Given the description of an element on the screen output the (x, y) to click on. 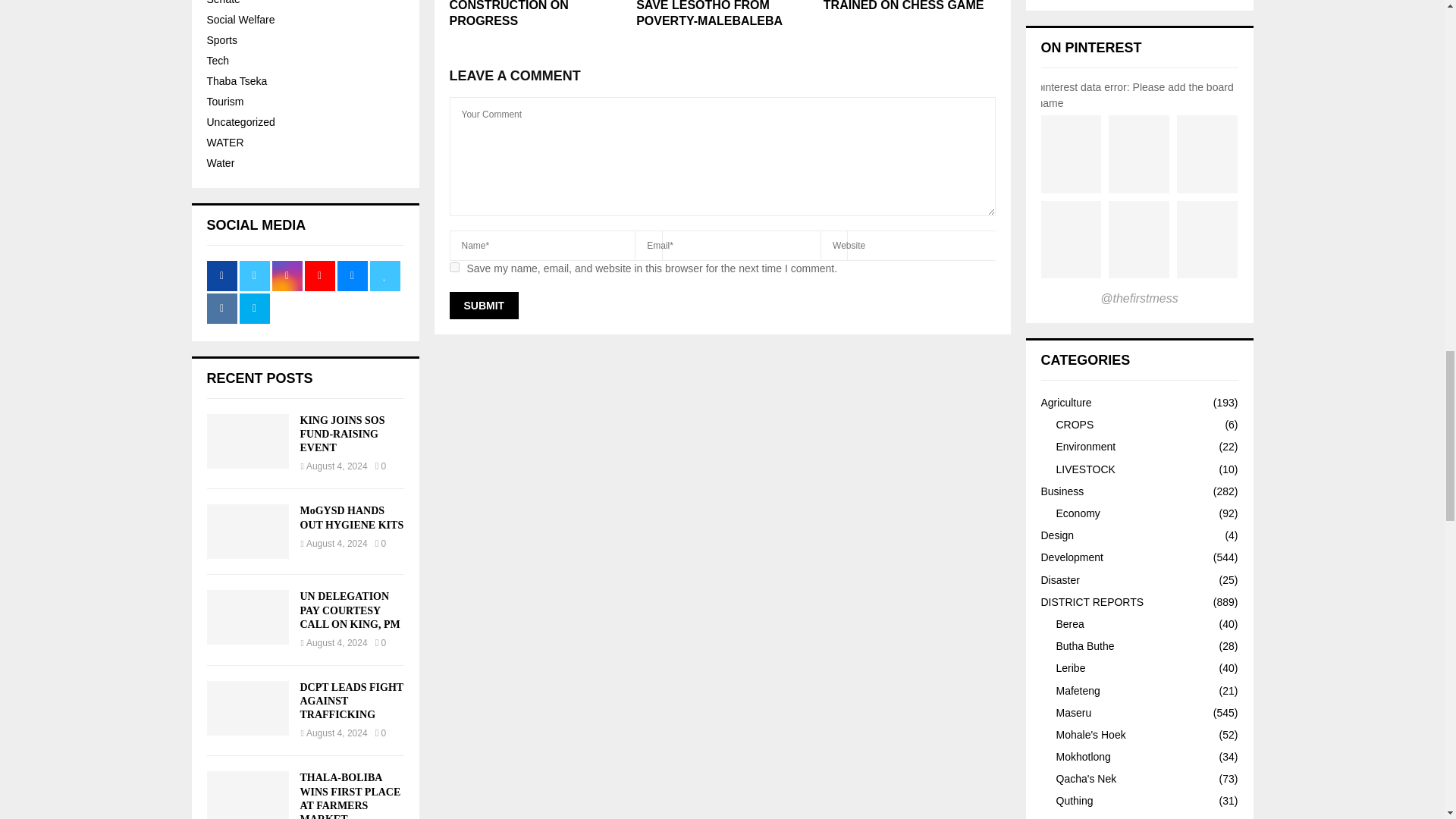
Submit (483, 305)
yes (453, 266)
